Given the description of an element on the screen output the (x, y) to click on. 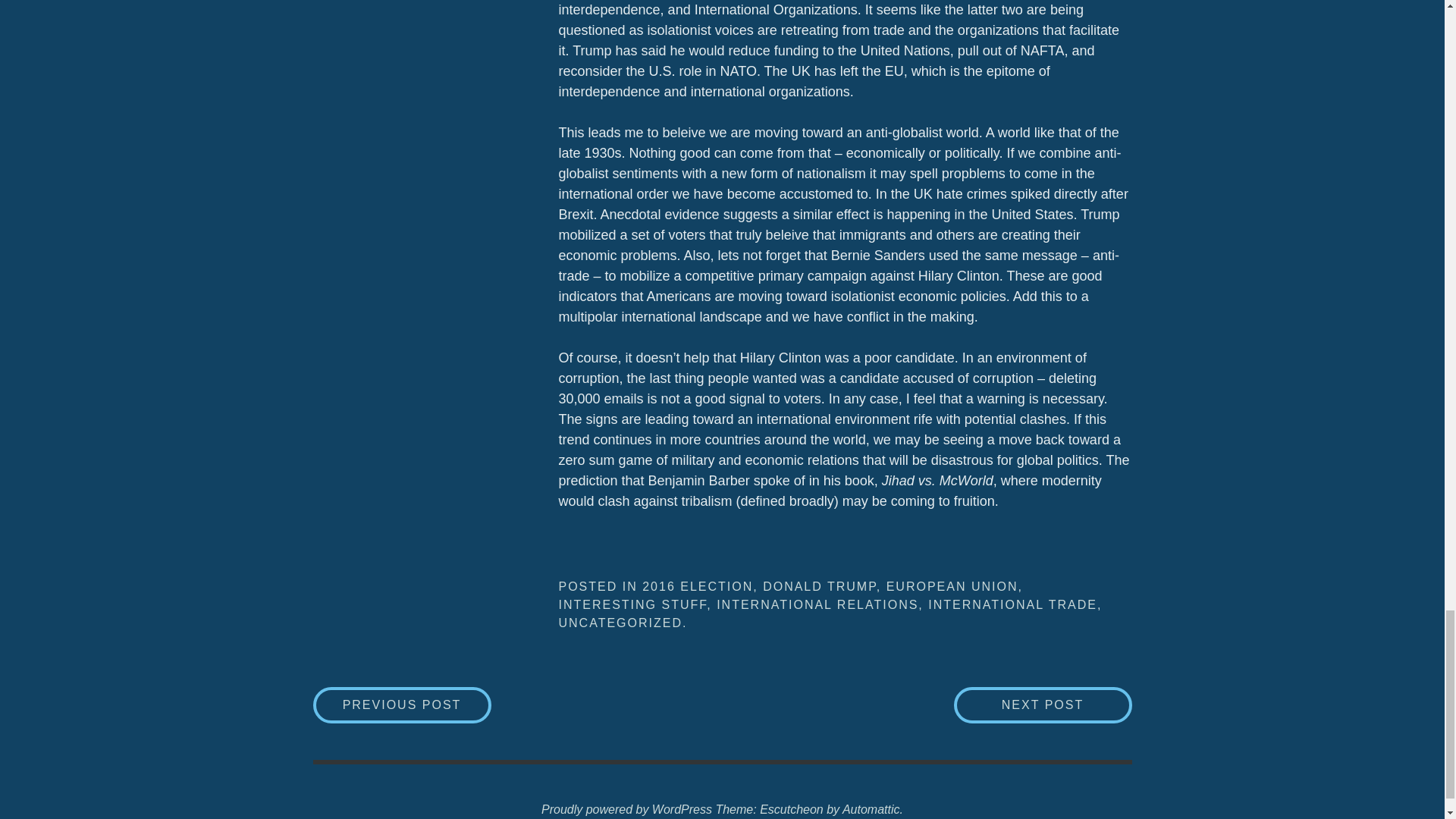
EUROPEAN UNION (951, 585)
INTERNATIONAL RELATIONS (817, 604)
INTERESTING STUFF (631, 604)
2016 ELECTION (697, 585)
DONALD TRUMP (819, 585)
INTERNATIONAL TRADE (1012, 604)
UNCATEGORIZED (619, 622)
